Given the description of an element on the screen output the (x, y) to click on. 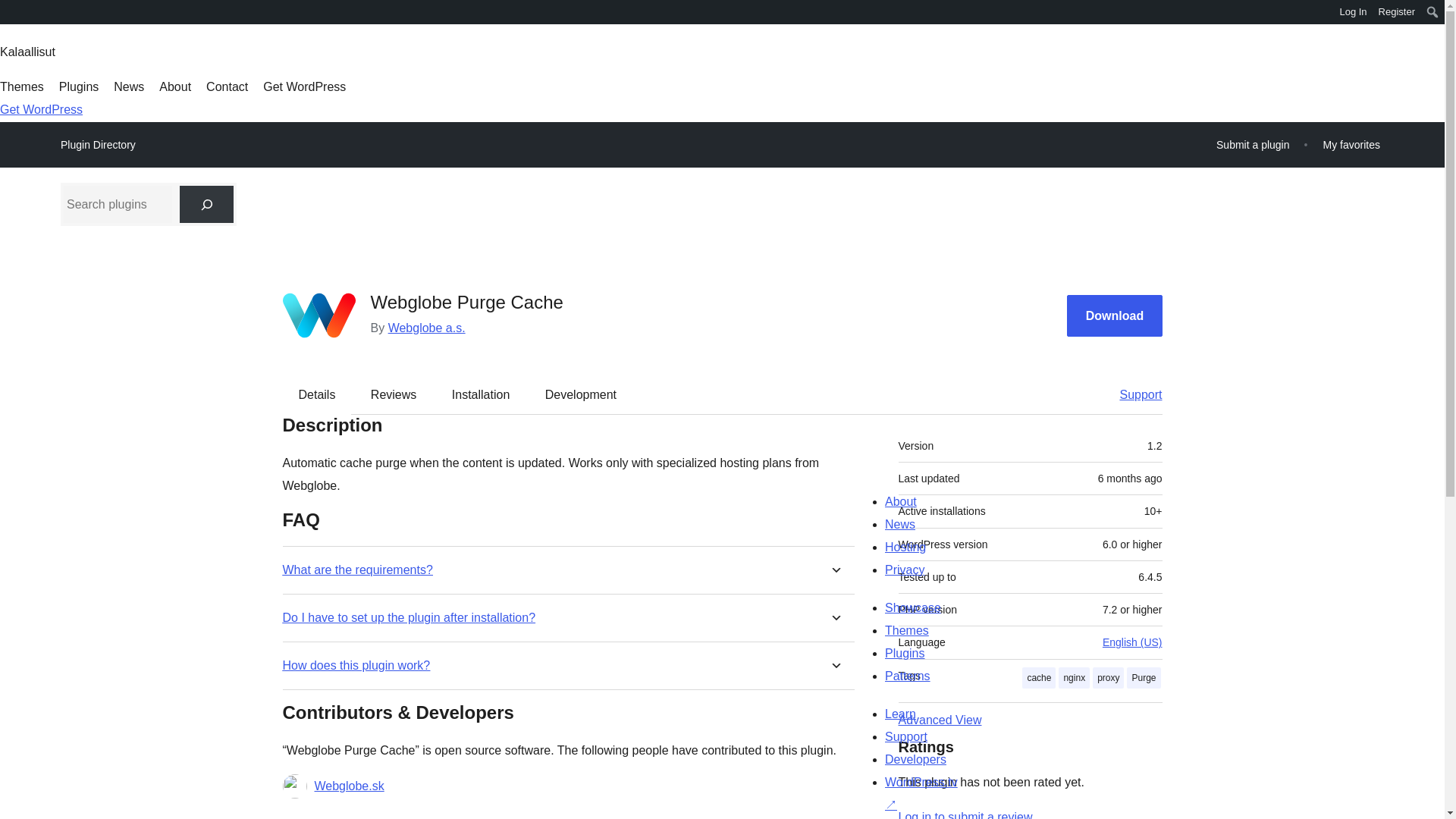
Plugin Directory (97, 144)
Get WordPress (304, 87)
My favorites (1351, 144)
WordPress.org (10, 10)
Installation (480, 394)
Get WordPress (41, 109)
Do I have to set up the plugin after installation? (408, 617)
How does this plugin work? (355, 665)
Log in to WordPress.org (966, 814)
Search (16, 13)
